Given the description of an element on the screen output the (x, y) to click on. 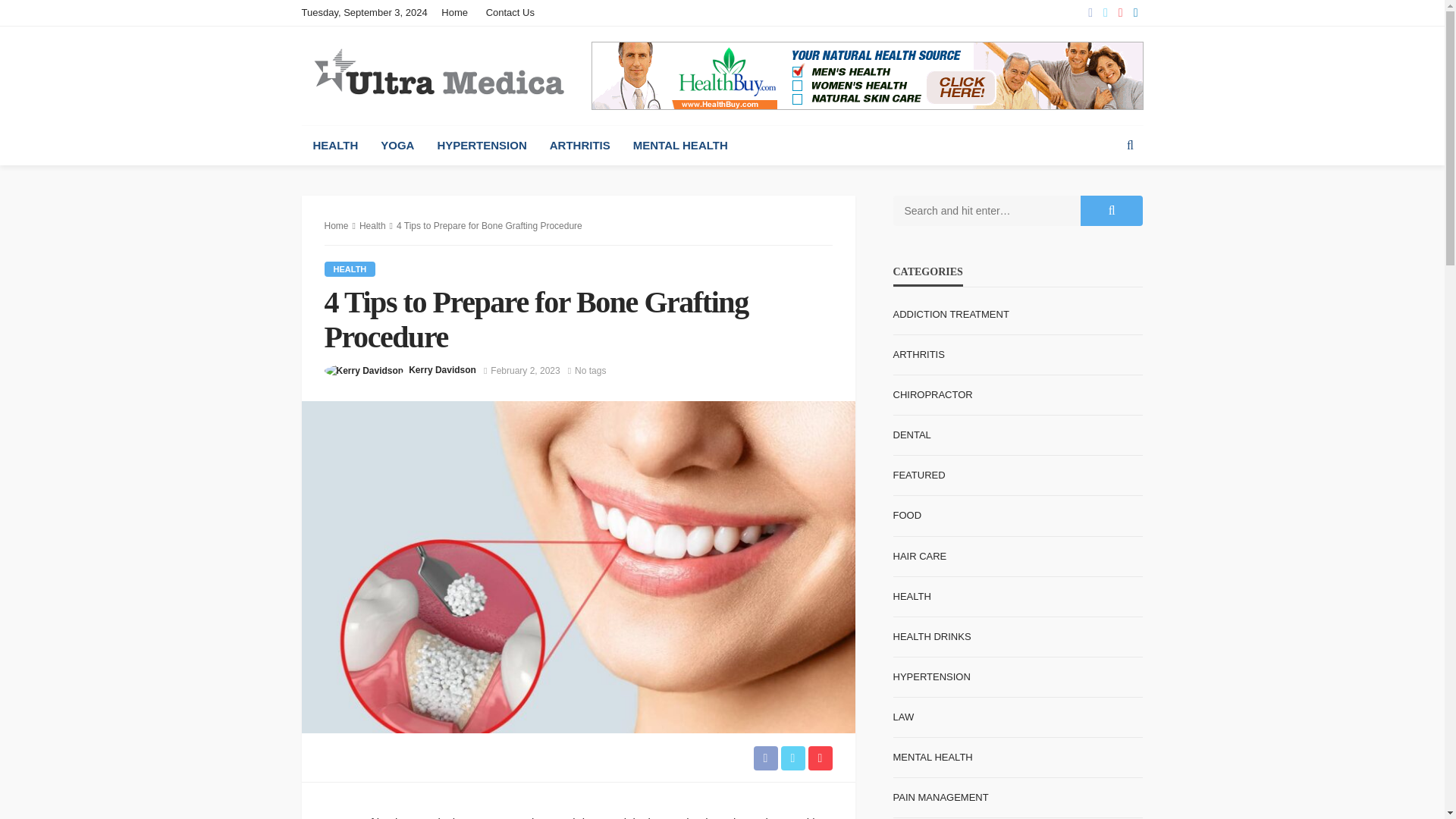
Ultra Medica (438, 73)
Health (349, 268)
Search for: (986, 210)
